Given the description of an element on the screen output the (x, y) to click on. 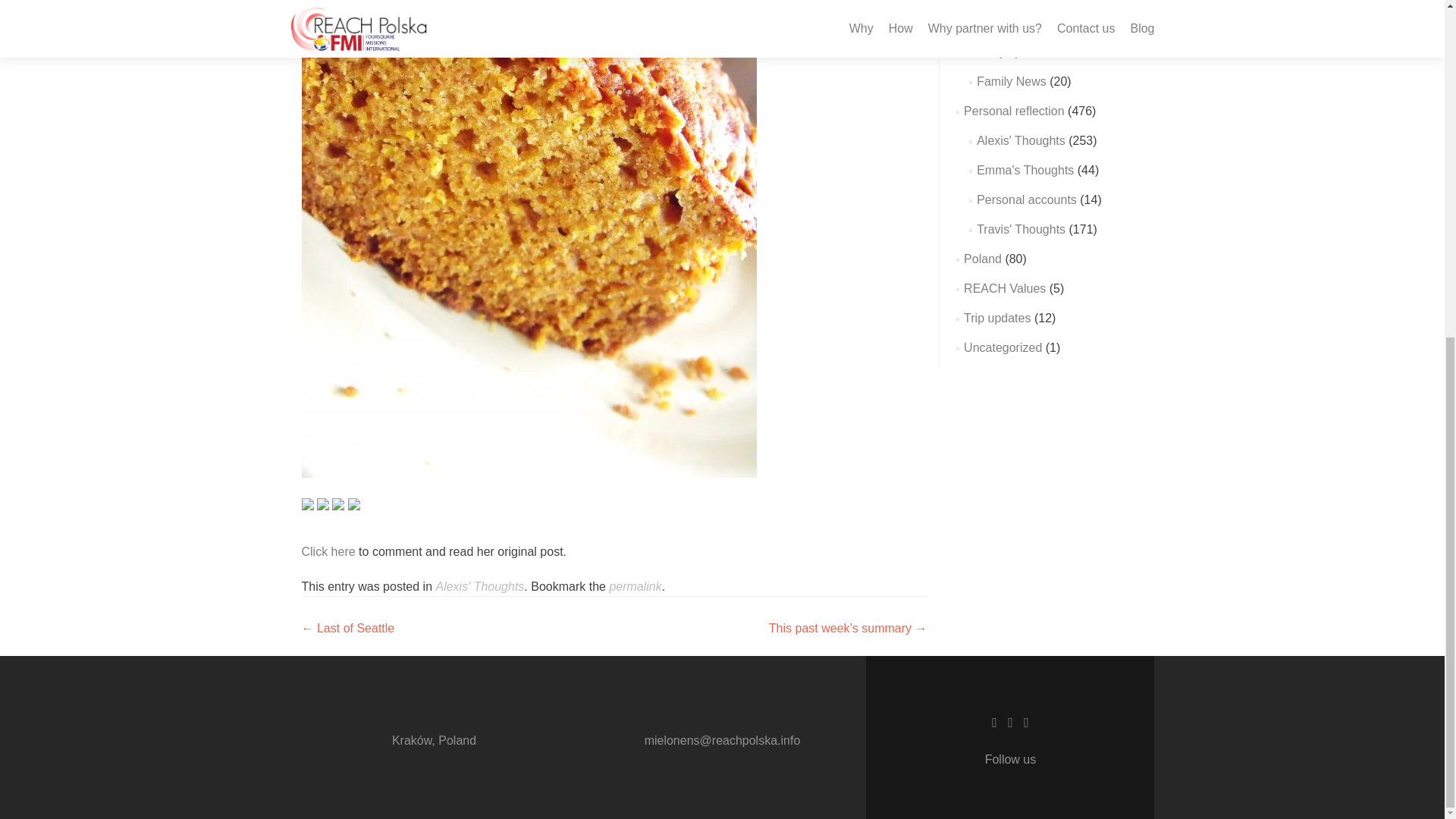
Click here (328, 551)
Alexis' Thoughts (479, 585)
permalink (634, 585)
